Given the description of an element on the screen output the (x, y) to click on. 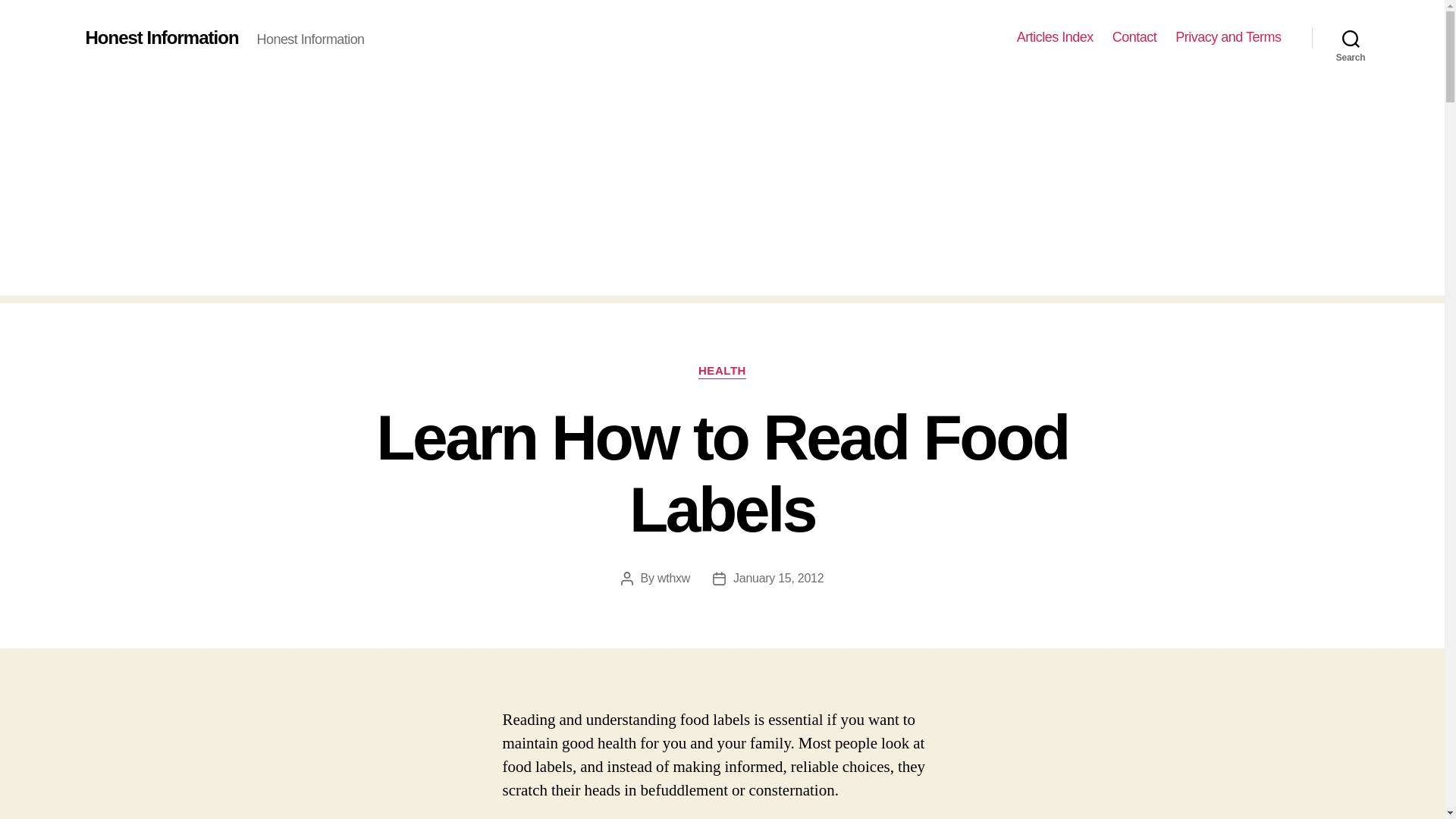
HEALTH (721, 371)
January 15, 2012 (778, 577)
Privacy and Terms (1227, 37)
wthxw (674, 577)
Search (1350, 37)
Articles Index (1054, 37)
Honest Information (161, 37)
Contact (1134, 37)
